Given the description of an element on the screen output the (x, y) to click on. 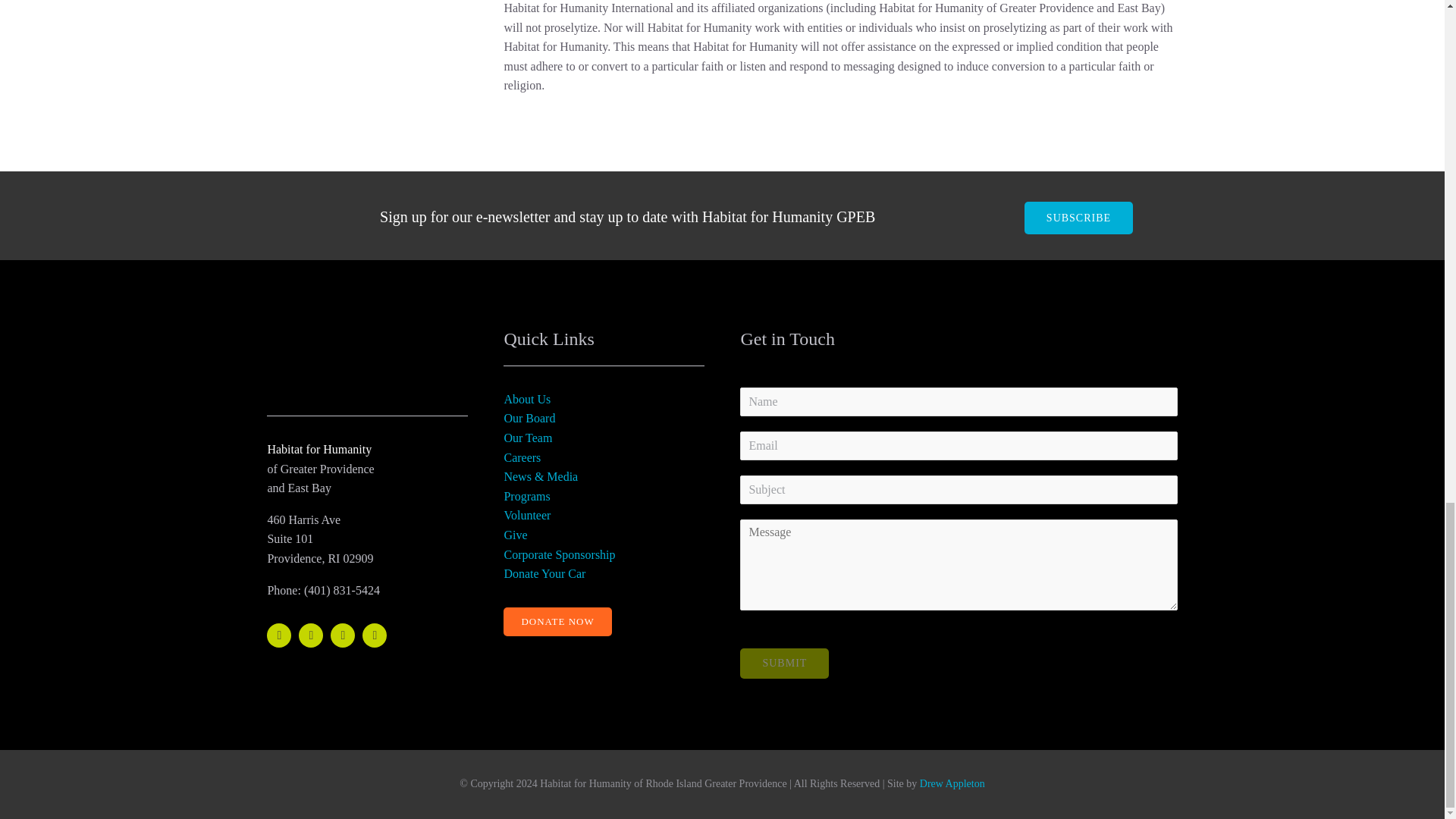
Instagram (342, 635)
Facebook (278, 635)
X (310, 635)
LinkedIn (374, 635)
